Given the description of an element on the screen output the (x, y) to click on. 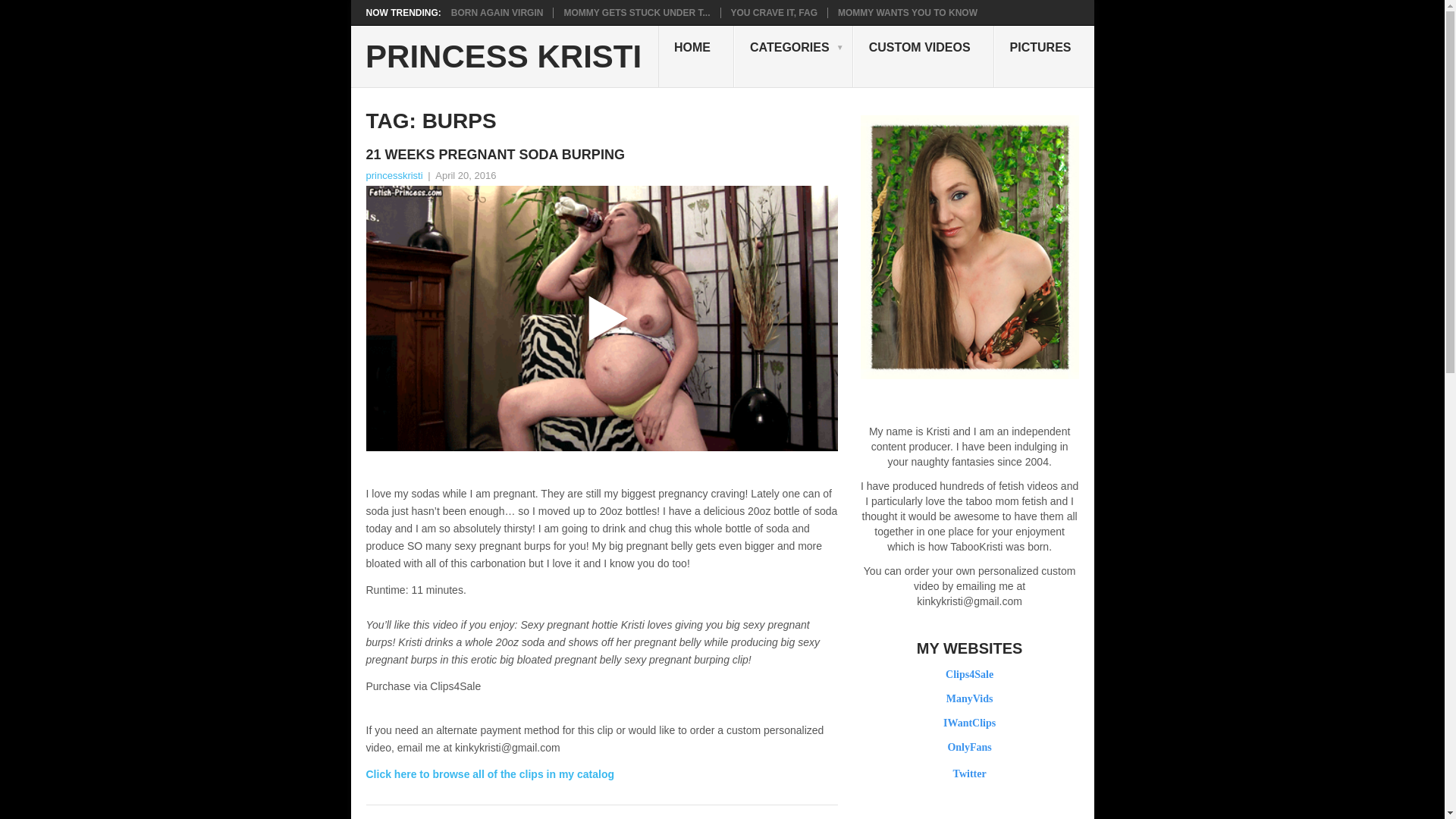
Posts by princesskristi (393, 174)
PRINCESS KRISTI (503, 56)
MOMMY GETS STUCK UNDER T... (636, 12)
21 Weeks Pregnant Soda Burping (601, 154)
CATEGORIES (793, 56)
HOME (695, 56)
YOU CRAVE IT, FAG (773, 12)
BORN AGAIN VIRGIN (497, 12)
Born Again Virgin (497, 12)
MOMMY WANTS YOU TO KNOW (907, 12)
